Given the description of an element on the screen output the (x, y) to click on. 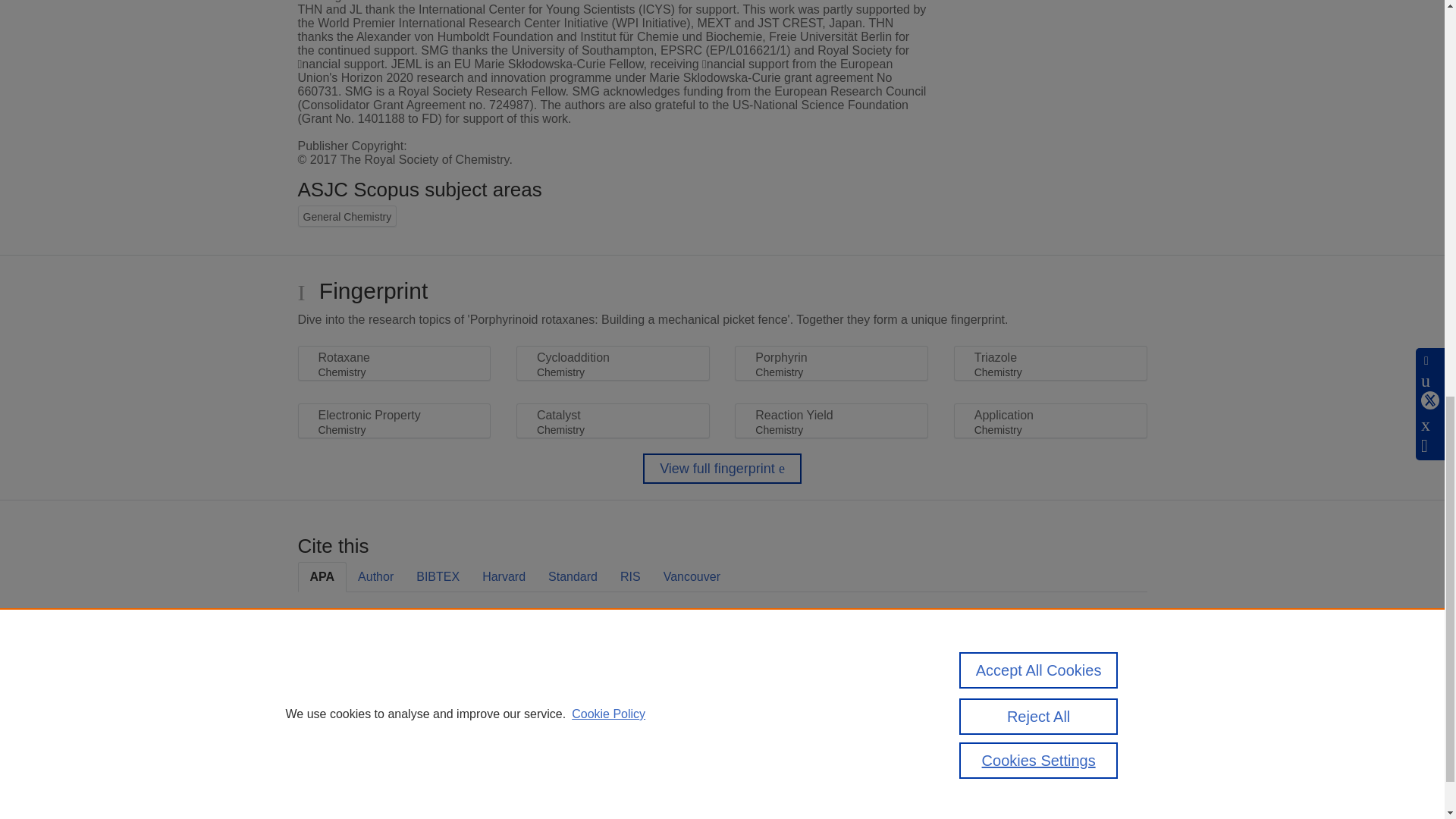
Pure (362, 740)
Scopus (394, 740)
View full fingerprint (722, 468)
